Given the description of an element on the screen output the (x, y) to click on. 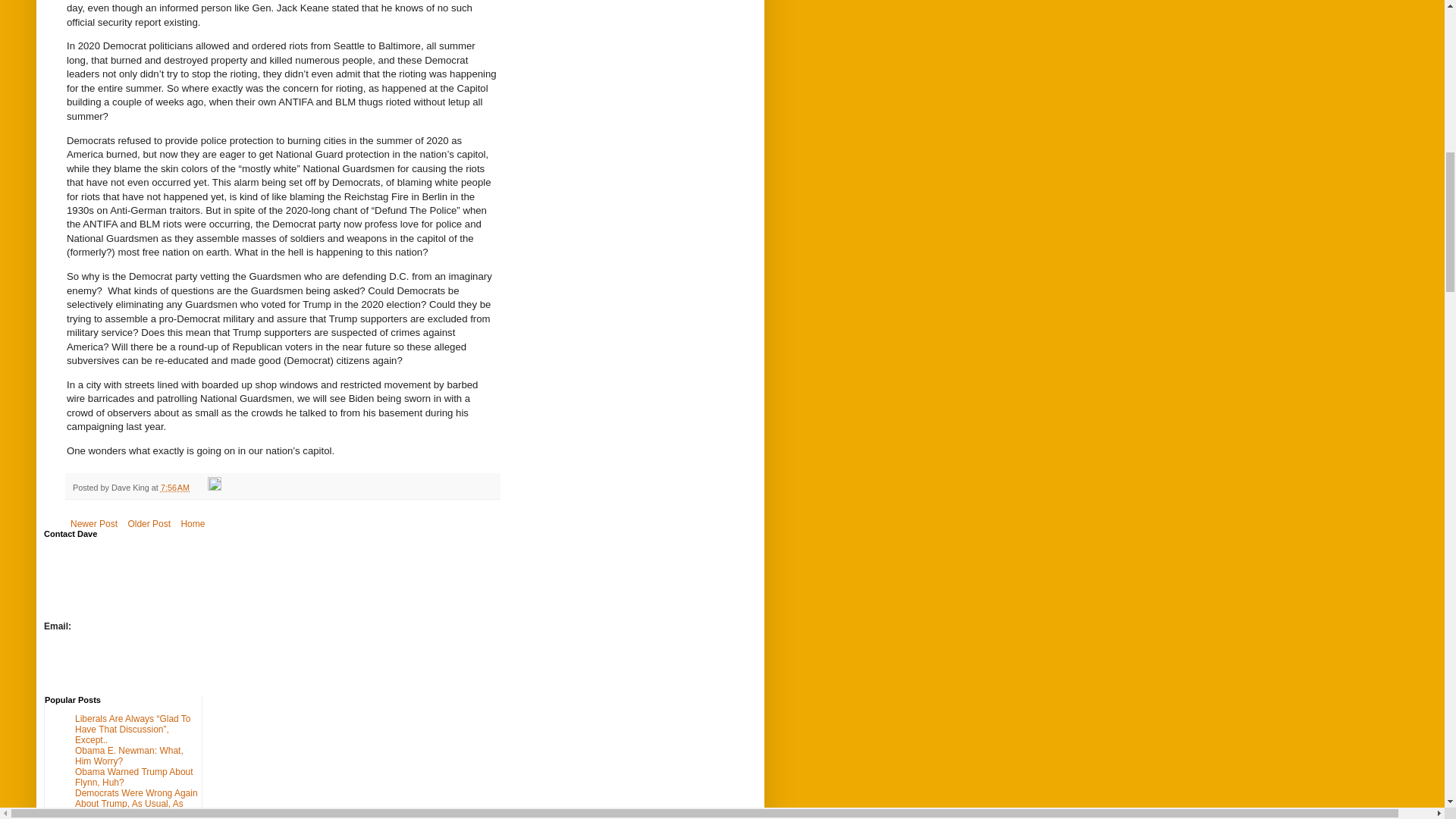
Obama Warned Trump About Flynn, Huh? (134, 776)
Older Post (148, 524)
Newer Post (93, 524)
Edit Post (214, 487)
Newer Post (93, 524)
Older Post (148, 524)
Obama E. Newman: What, Him Worry? (129, 755)
Home (192, 524)
Democrats Were Wrong Again About Trump, As Usual, As Always (136, 803)
permanent link (174, 487)
Email Post (200, 487)
